Given the description of an element on the screen output the (x, y) to click on. 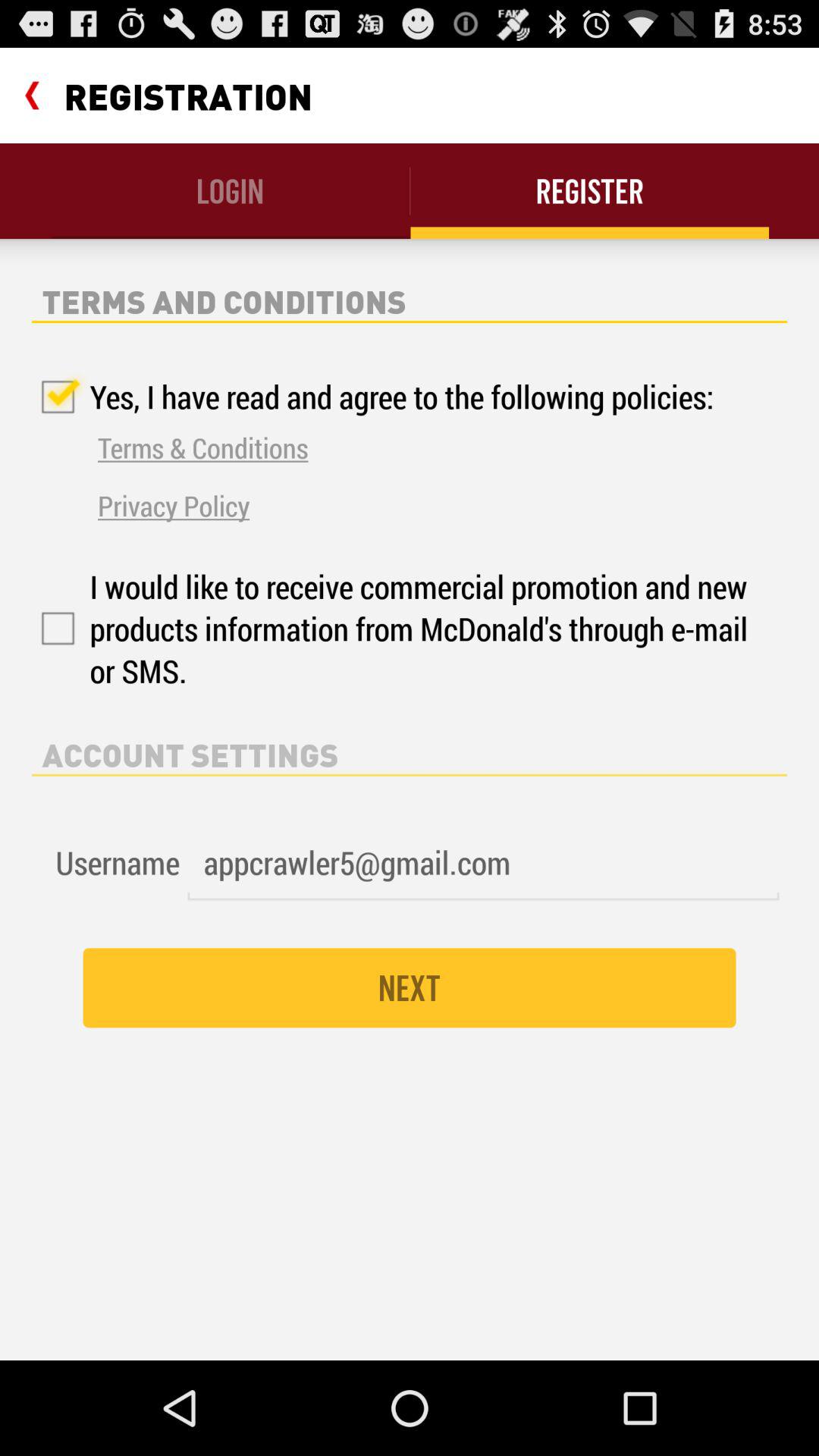
turn on the yes i have item (372, 396)
